Given the description of an element on the screen output the (x, y) to click on. 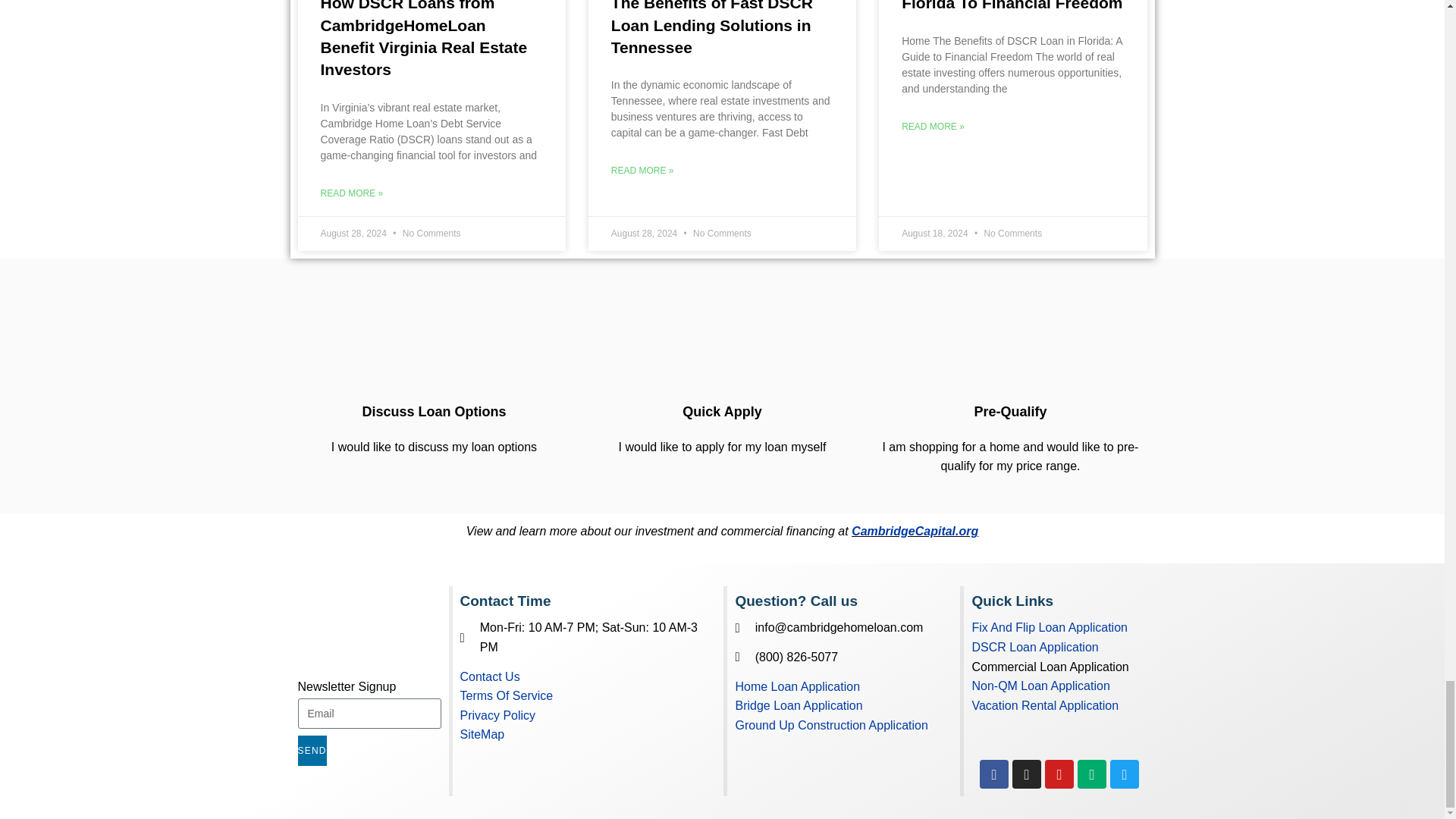
FHA Loan Atlantic Beach (722, 343)
FHA Loan Atlantic Beach (434, 343)
FHA Loan Atlantic Beach (1010, 343)
